Given the description of an element on the screen output the (x, y) to click on. 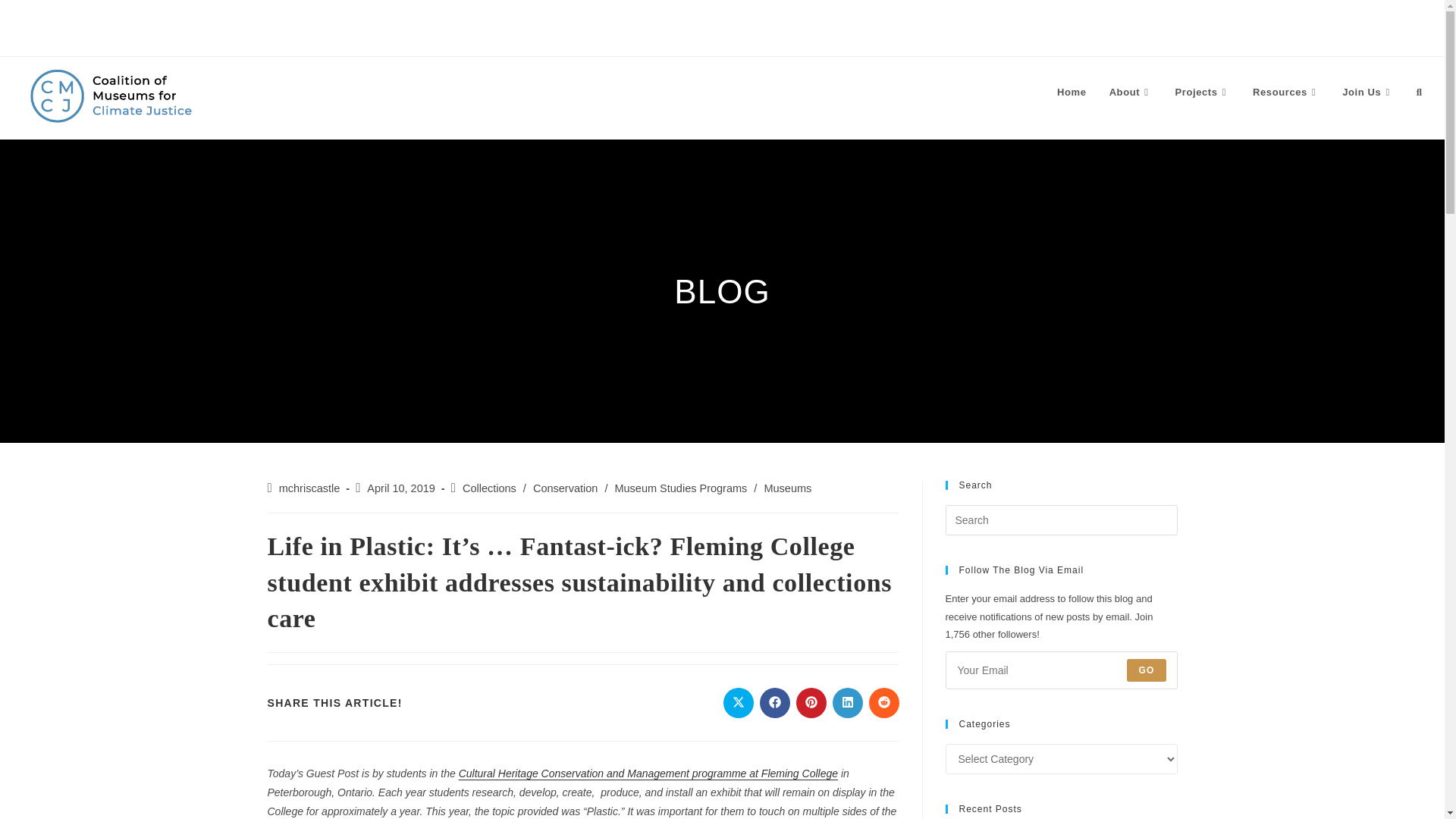
About (1130, 92)
mchriscastle (309, 488)
Join Us (1367, 92)
Follow Our Blog (260, 21)
Collections (489, 488)
Projects (1202, 92)
Become a member (135, 21)
Contact Us (26, 21)
Home (1071, 92)
Museum Studies Programs (680, 488)
